Given the description of an element on the screen output the (x, y) to click on. 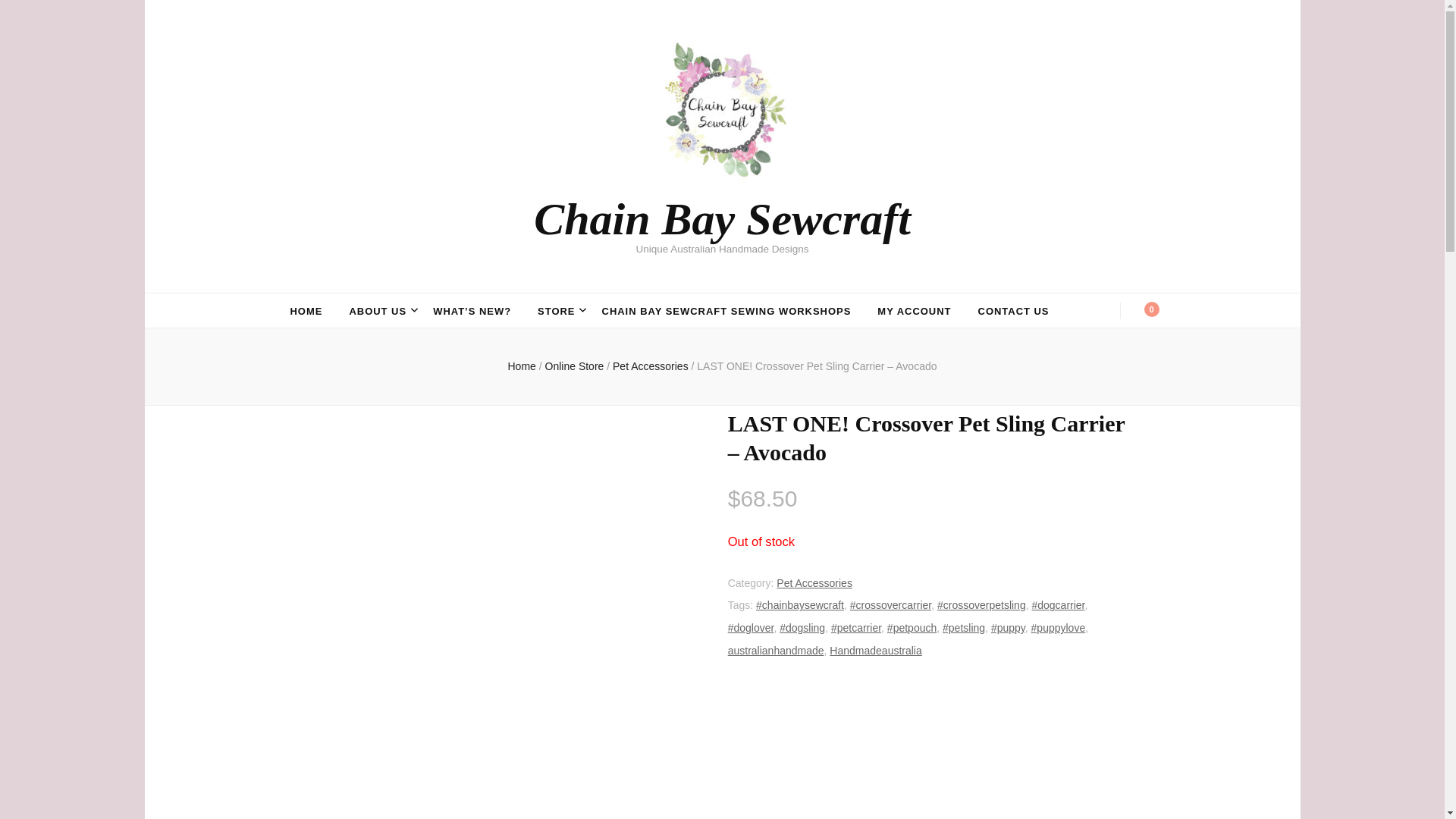
ABOUT US (377, 311)
Online Store (574, 366)
CONTACT US (1013, 311)
MY ACCOUNT (913, 311)
Pet Accessories (813, 582)
Chain Bay Sewcraft (722, 219)
CHAIN BAY SEWCRAFT SEWING WORKSHOPS (726, 311)
STORE (556, 311)
Home (521, 366)
Pet Accessories (651, 366)
